Given the description of an element on the screen output the (x, y) to click on. 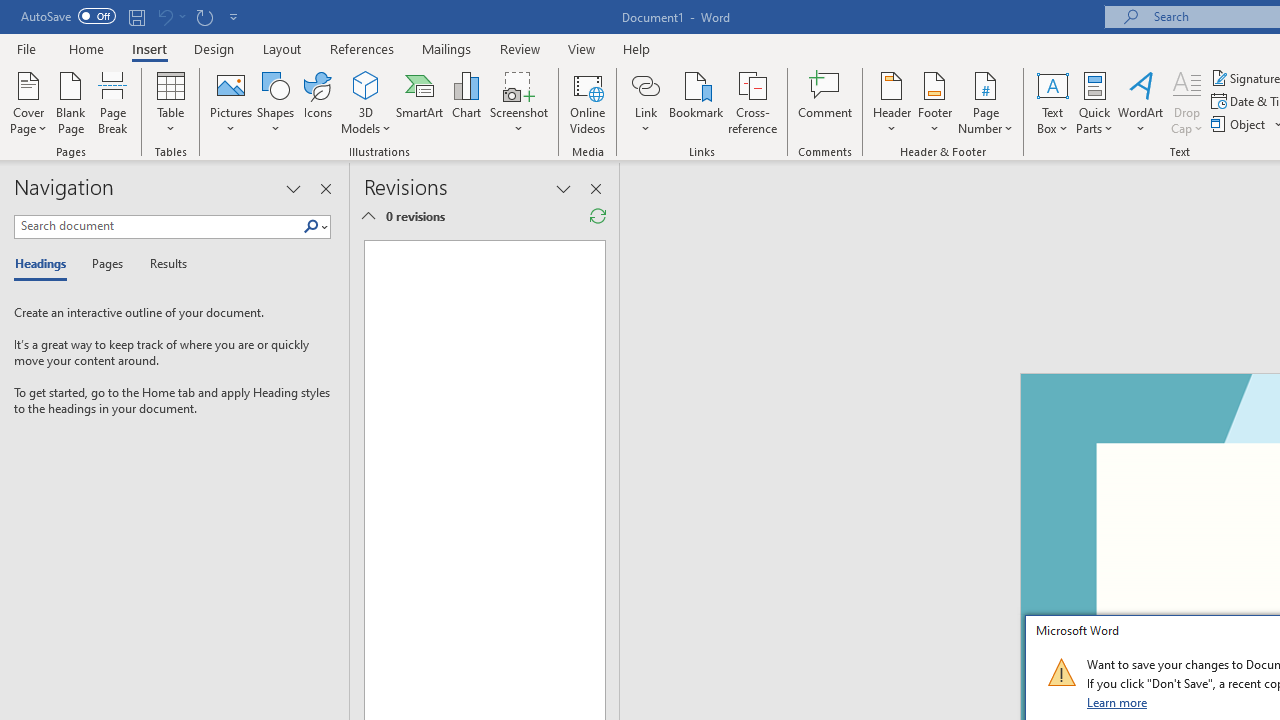
Shapes (275, 102)
Icons (317, 102)
Page Number (986, 102)
Cross-reference... (752, 102)
Chart... (466, 102)
Can't Undo (164, 15)
